Given the description of an element on the screen output the (x, y) to click on. 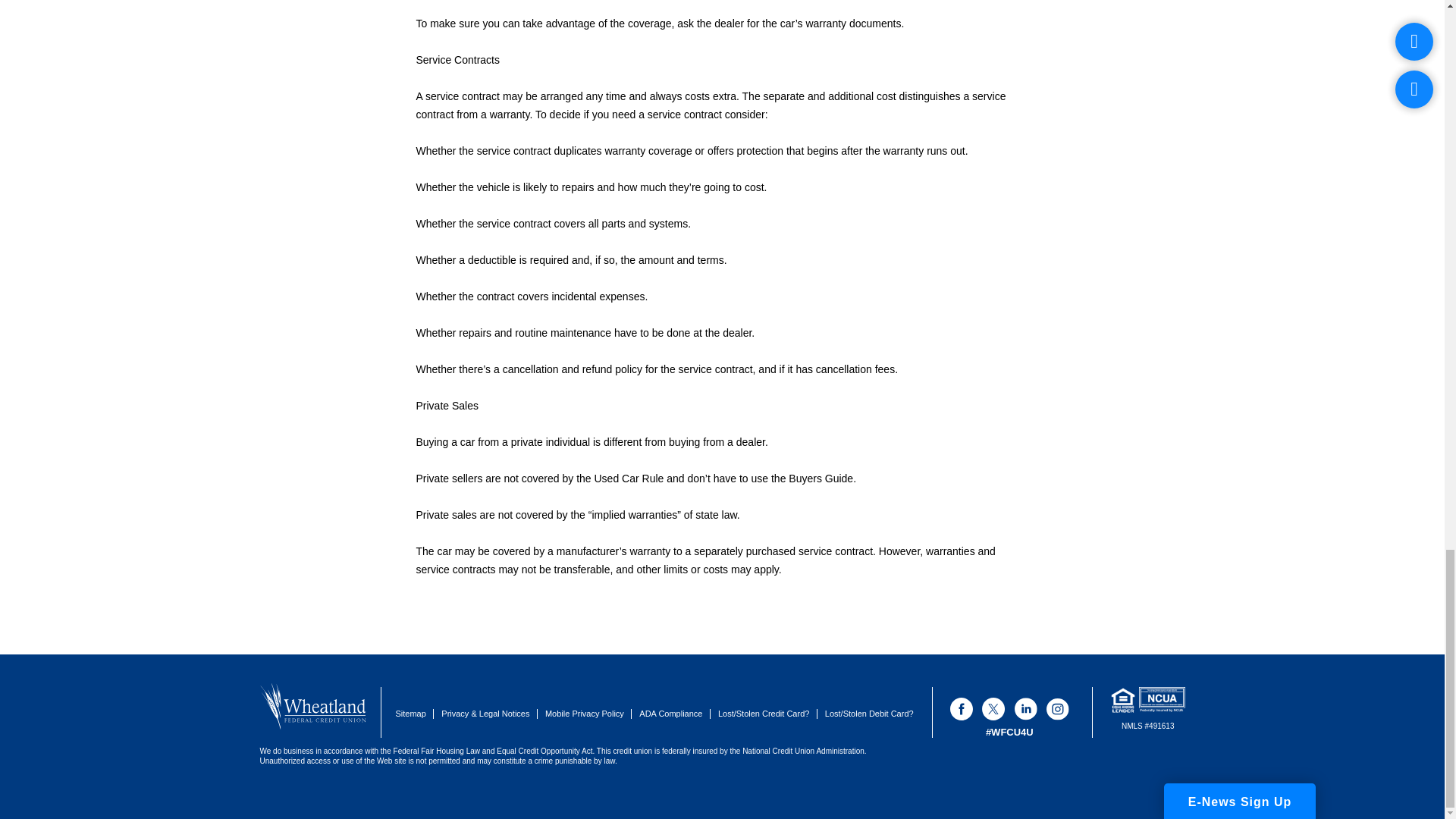
Wheatland FCU Twitter (992, 708)
Wheatland FCU Instagram (1057, 708)
Wheatland FCU Facebook (961, 708)
Wheatland FCU LinkedIn (1025, 708)
